Given the description of an element on the screen output the (x, y) to click on. 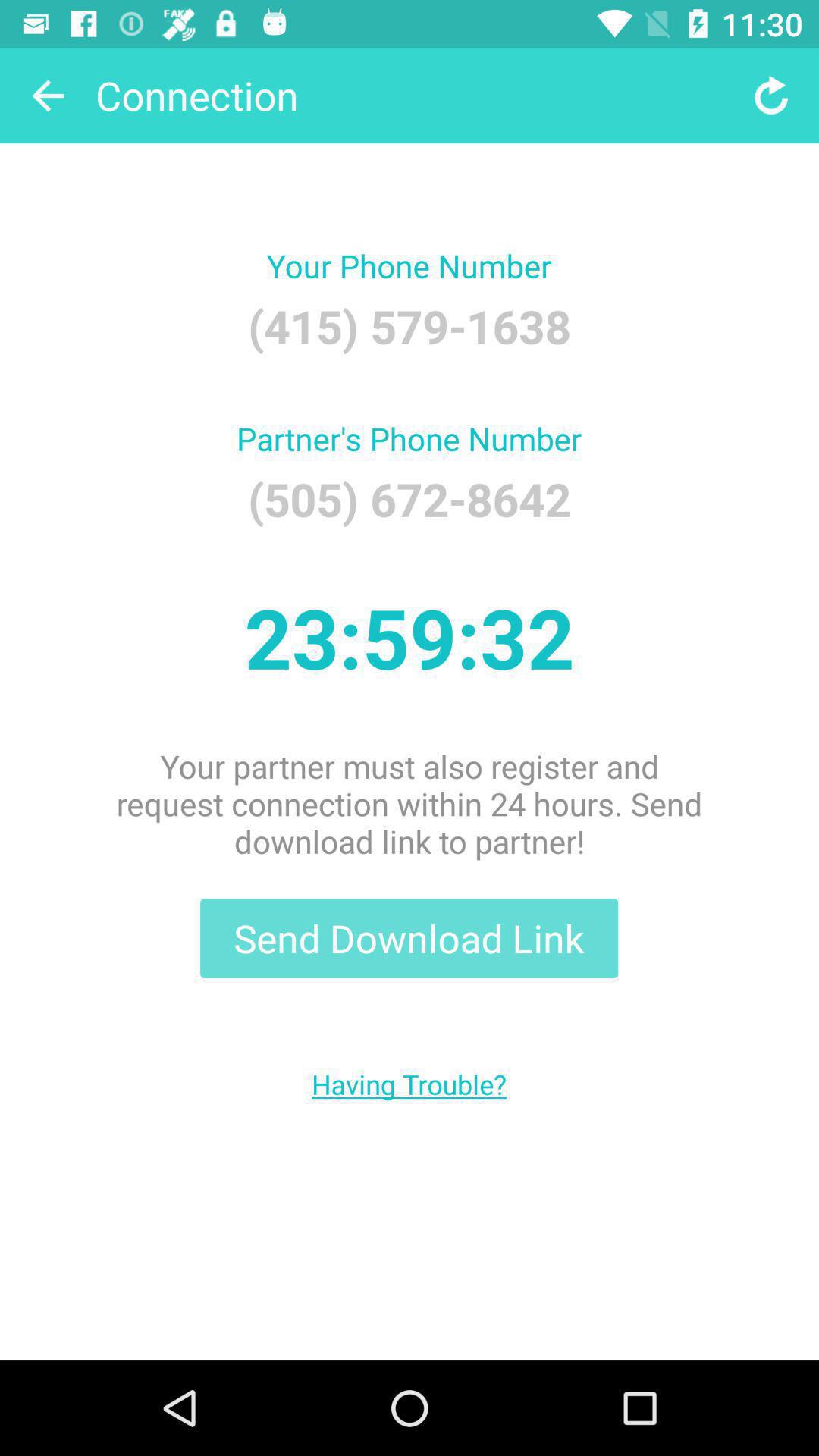
choose the having trouble? (408, 1083)
